Given the description of an element on the screen output the (x, y) to click on. 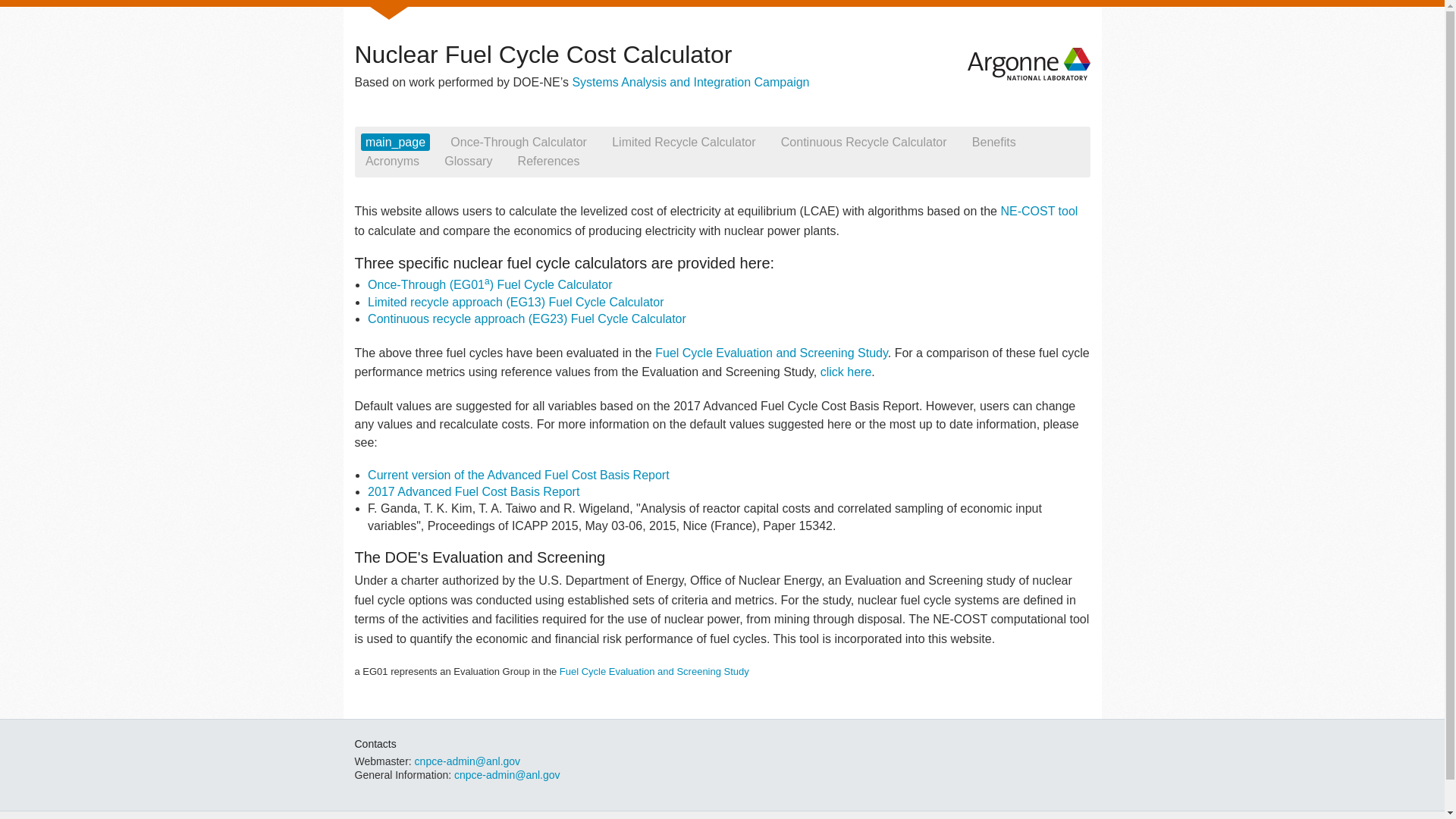
2017 Advanced Fuel Cost Basis Report (473, 491)
Systems Analysis and Integration Campaign (690, 82)
click here (846, 371)
Benefits (993, 141)
Current version of the Advanced Fuel Cost Basis Report (518, 474)
Acronyms (393, 160)
Fuel Cycle Evaluation and Screening Study (771, 352)
Glossary (468, 160)
NE-COST tool (1038, 210)
Once-Through Calculator (518, 141)
Fuel Cycle Evaluation and Screening Study (654, 671)
References (548, 160)
Continuous Recycle Calculator (864, 141)
Limited Recycle Calculator (683, 141)
